Given the description of an element on the screen output the (x, y) to click on. 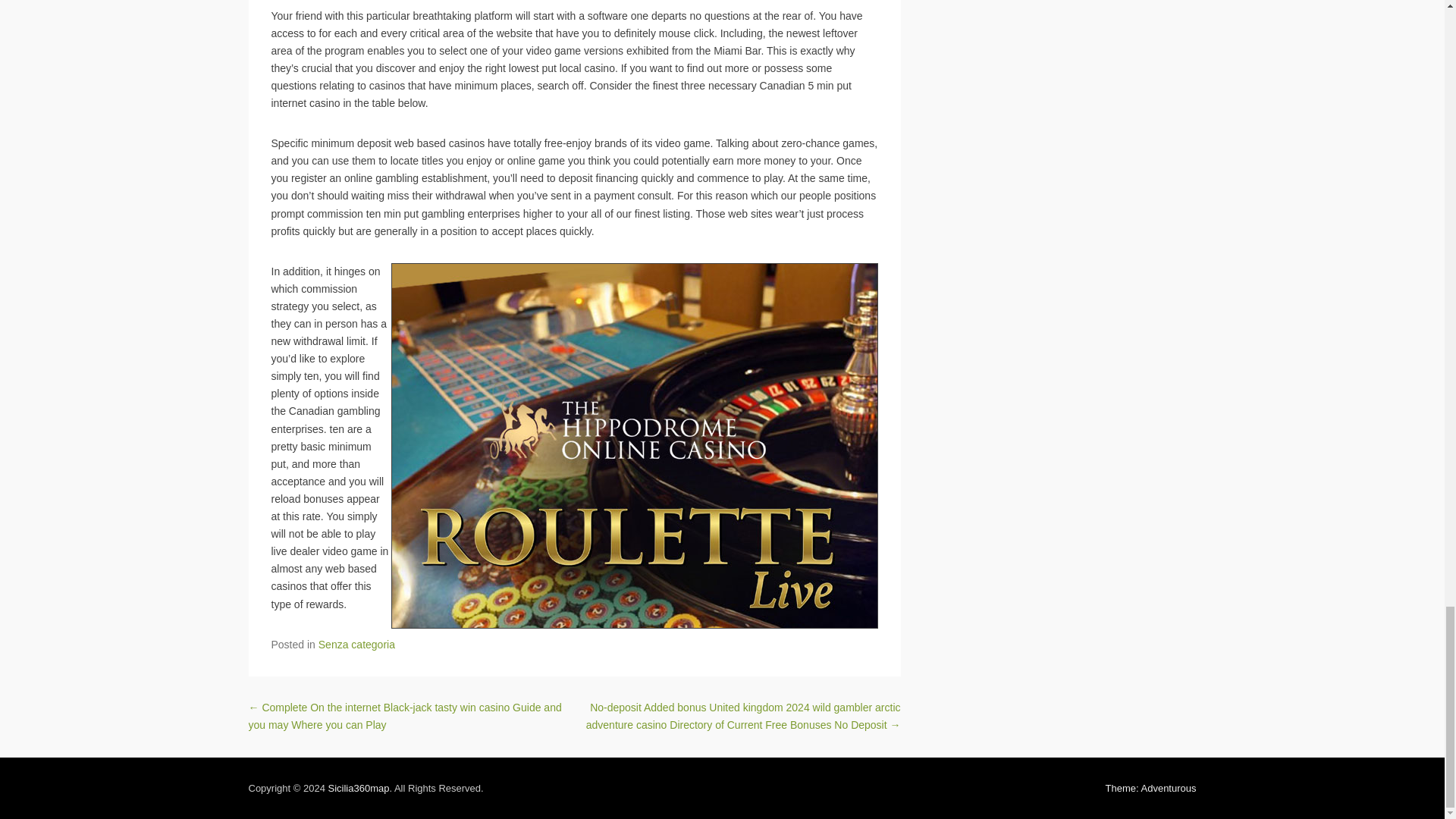
Senza categoria (356, 644)
Adventurous (1150, 787)
Sicilia360map (357, 787)
